Given the description of an element on the screen output the (x, y) to click on. 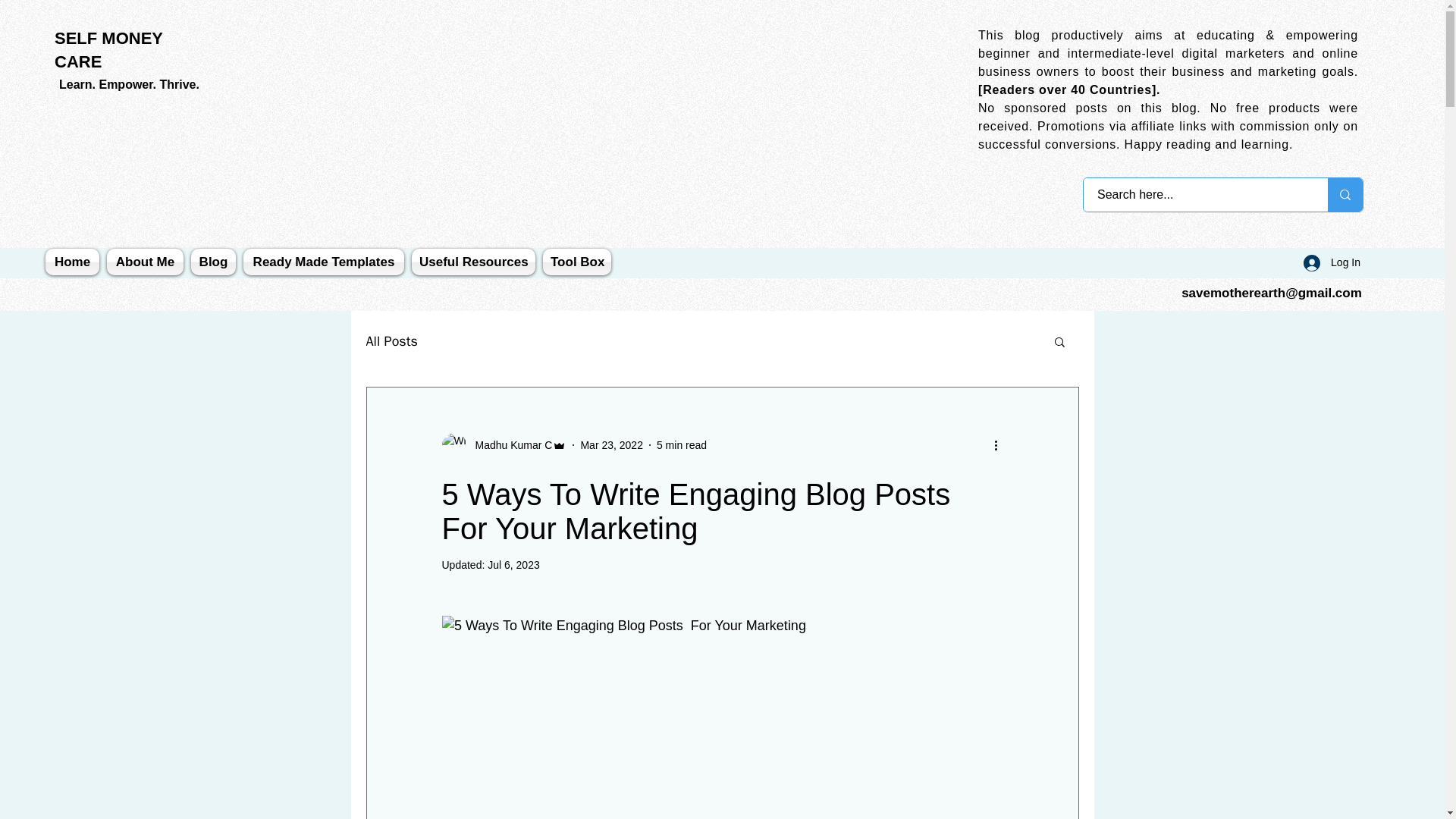
SELF MONEY CARE (109, 49)
Madhu Kumar C (508, 445)
5 min read (681, 444)
About Me (145, 261)
Madhu Kumar C (503, 445)
Jul 6, 2023 (513, 564)
Useful Resources (472, 261)
All Posts (390, 341)
Home (74, 261)
Tool Box (574, 261)
Mar 23, 2022 (611, 444)
Ready Made Templates (323, 261)
Blog (213, 261)
Log In (1331, 262)
